Given the description of an element on the screen output the (x, y) to click on. 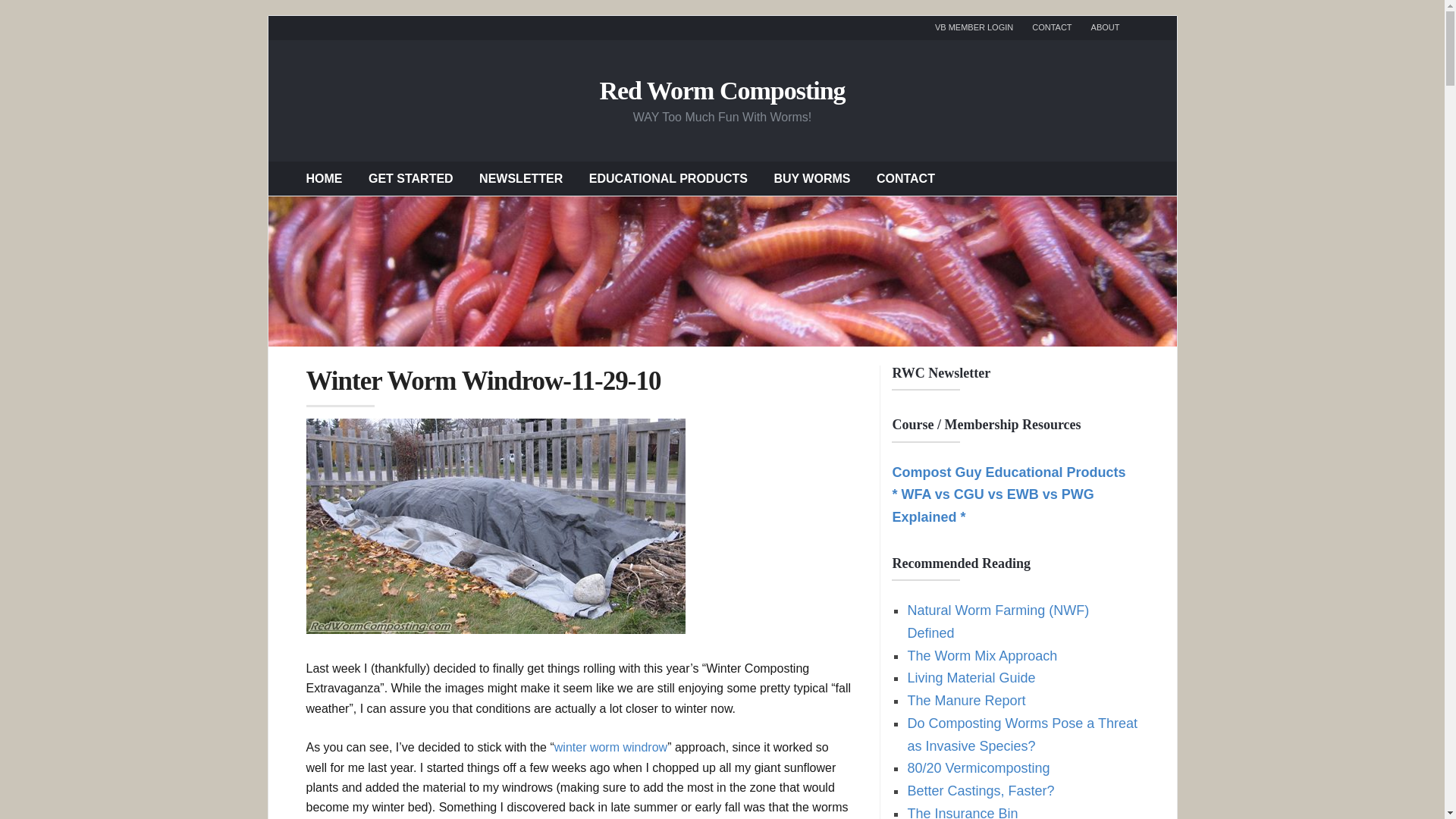
Compost Guy Educational Products (1008, 472)
Do Composting Worms Pose a Threat as Invasive Species? (1022, 734)
Living Material Guide (971, 677)
Red Worm Composting (721, 89)
The Worm Mix Approach (982, 655)
The Insurance Bin (962, 812)
CG Educational Products (1008, 472)
The Manure Report (966, 700)
winter worm windrow (610, 747)
GET STARTED (410, 177)
